Given the description of an element on the screen output the (x, y) to click on. 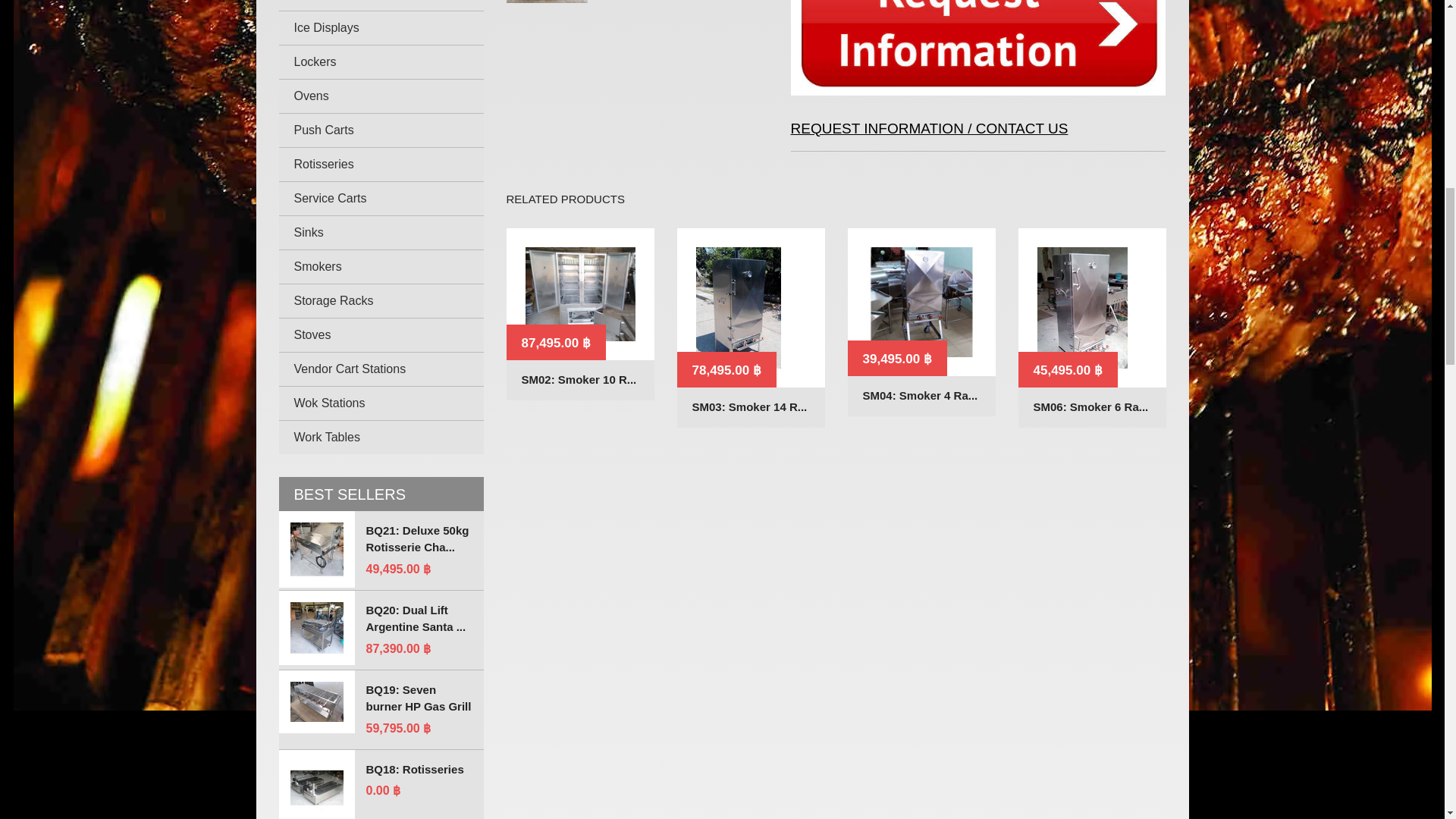
SM02: Smoker 10 Rack Gas Fired (579, 380)
SM03: Smoker 14 Rack 2 Door Insulated (750, 307)
SM04: Smoker 4 Rack Double Door (920, 395)
SM06: Smoker 6 Rack Double Door (1090, 407)
SM06: Smoker 6 Ra... (1090, 407)
SM02: Smoker 10 Rack Gas Fired (579, 294)
SM04: Smoker 4 Ra... (920, 395)
SM06: Smoker 6 Rack Double Door (1091, 307)
SM02: Smoker 10 R... (579, 380)
SM03: Smoker 14 Rack 2 Door Insulated (748, 407)
SM03: Smoker 14 R... (748, 407)
SM04: Smoker 4 Rack Double Door (921, 301)
